Given the description of an element on the screen output the (x, y) to click on. 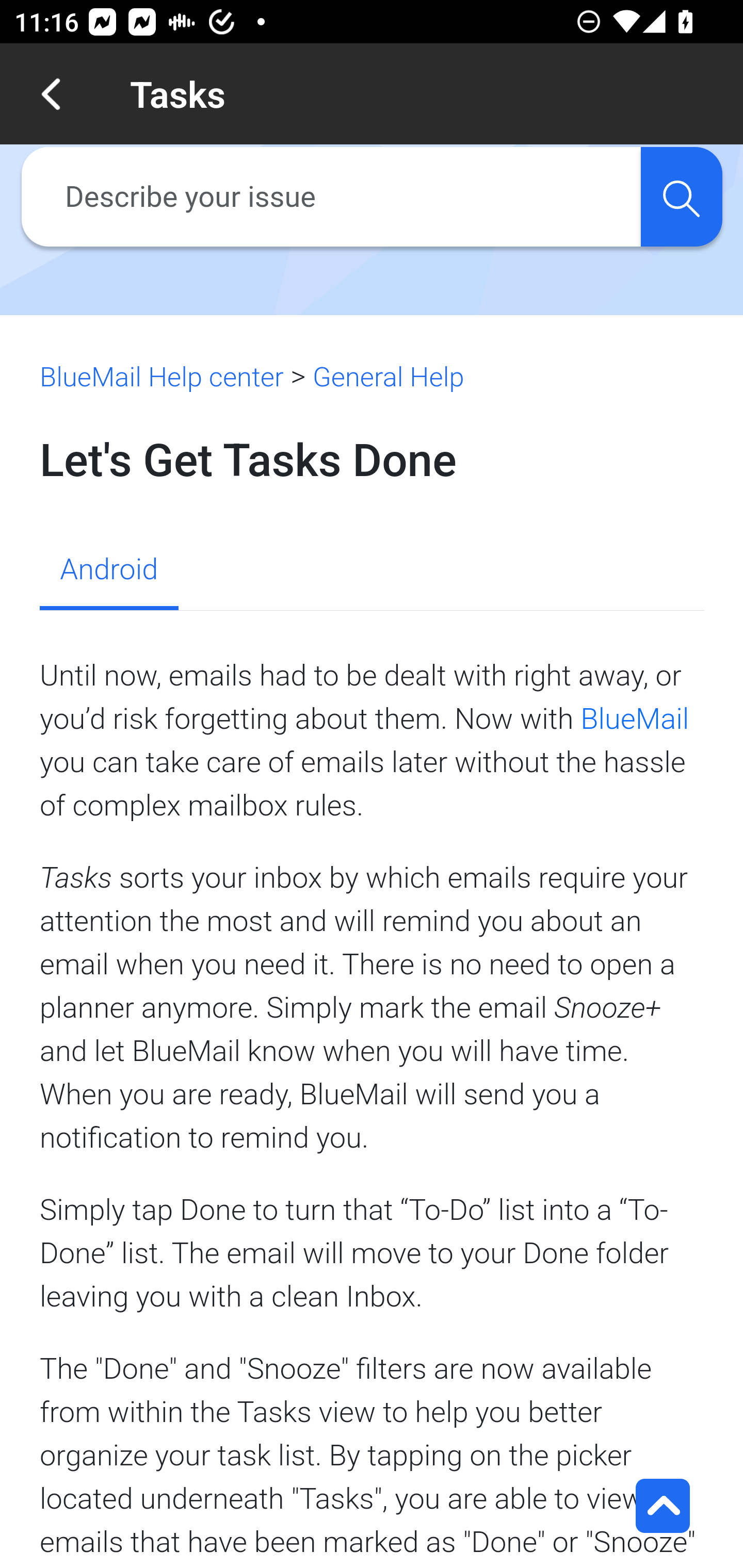
Navigate up (50, 93)
search (680, 196)
BlueMail Help center BlueMail  Help center (162, 376)
General Help (387, 376)
Android (108, 571)
BlueMail (634, 718)
